Given the description of an element on the screen output the (x, y) to click on. 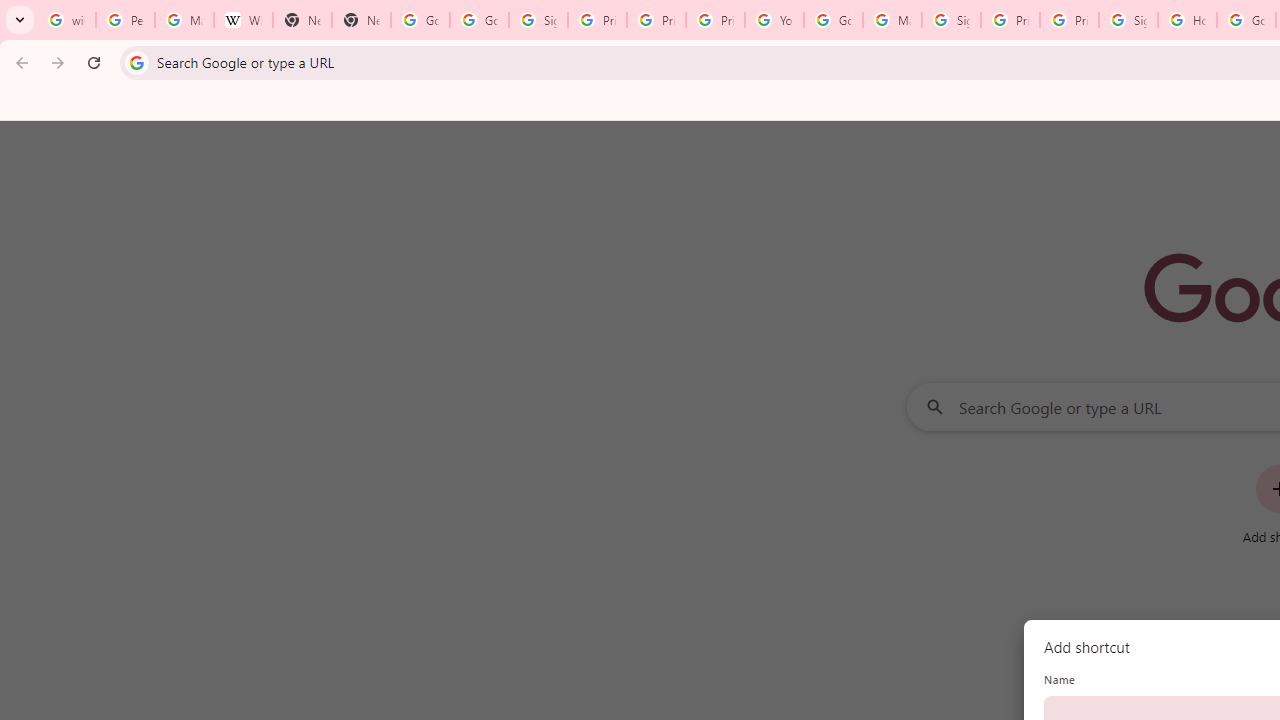
Manage your Location History - Google Search Help (183, 20)
Wikipedia:Edit requests - Wikipedia (242, 20)
Google Drive: Sign-in (479, 20)
New Tab (301, 20)
Google Account Help (832, 20)
Personalization & Google Search results - Google Search Help (125, 20)
Sign in - Google Accounts (538, 20)
